Given the description of an element on the screen output the (x, y) to click on. 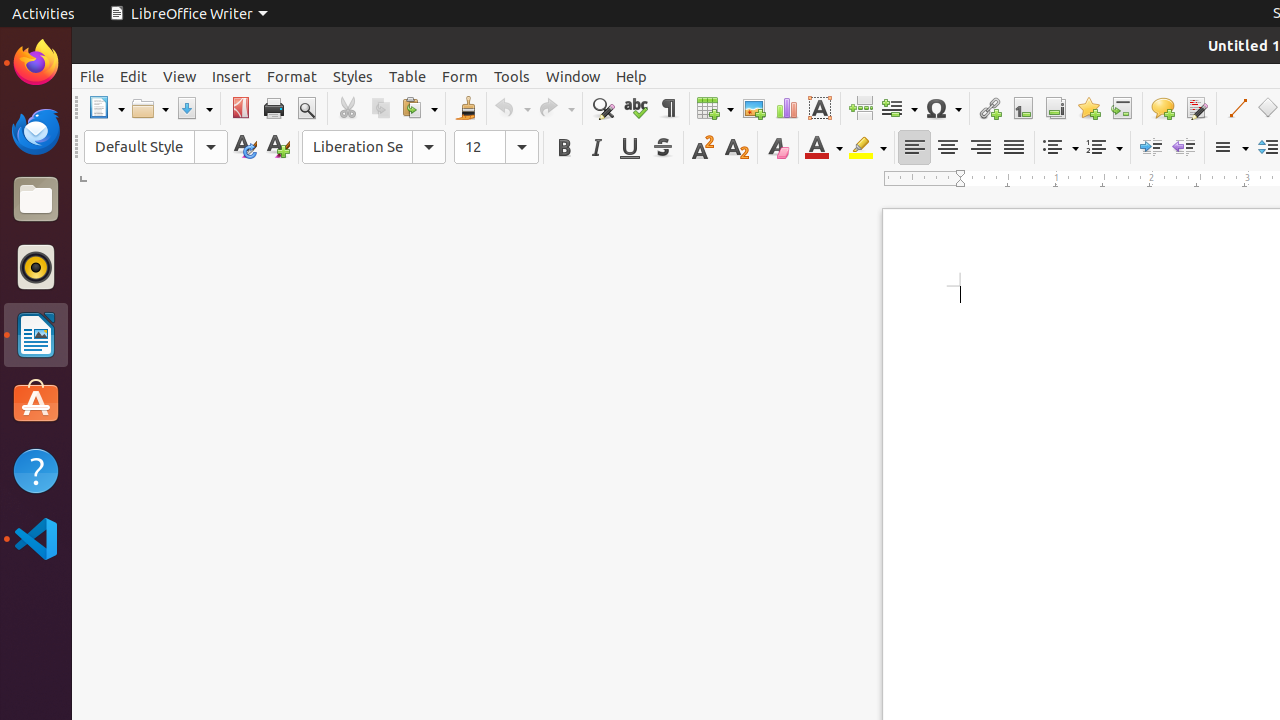
Window Element type: menu (573, 76)
Format Element type: menu (292, 76)
Strikethrough Element type: toggle-button (662, 147)
Font Color Element type: push-button (824, 147)
Paragraph Style Element type: panel (156, 147)
